Given the description of an element on the screen output the (x, y) to click on. 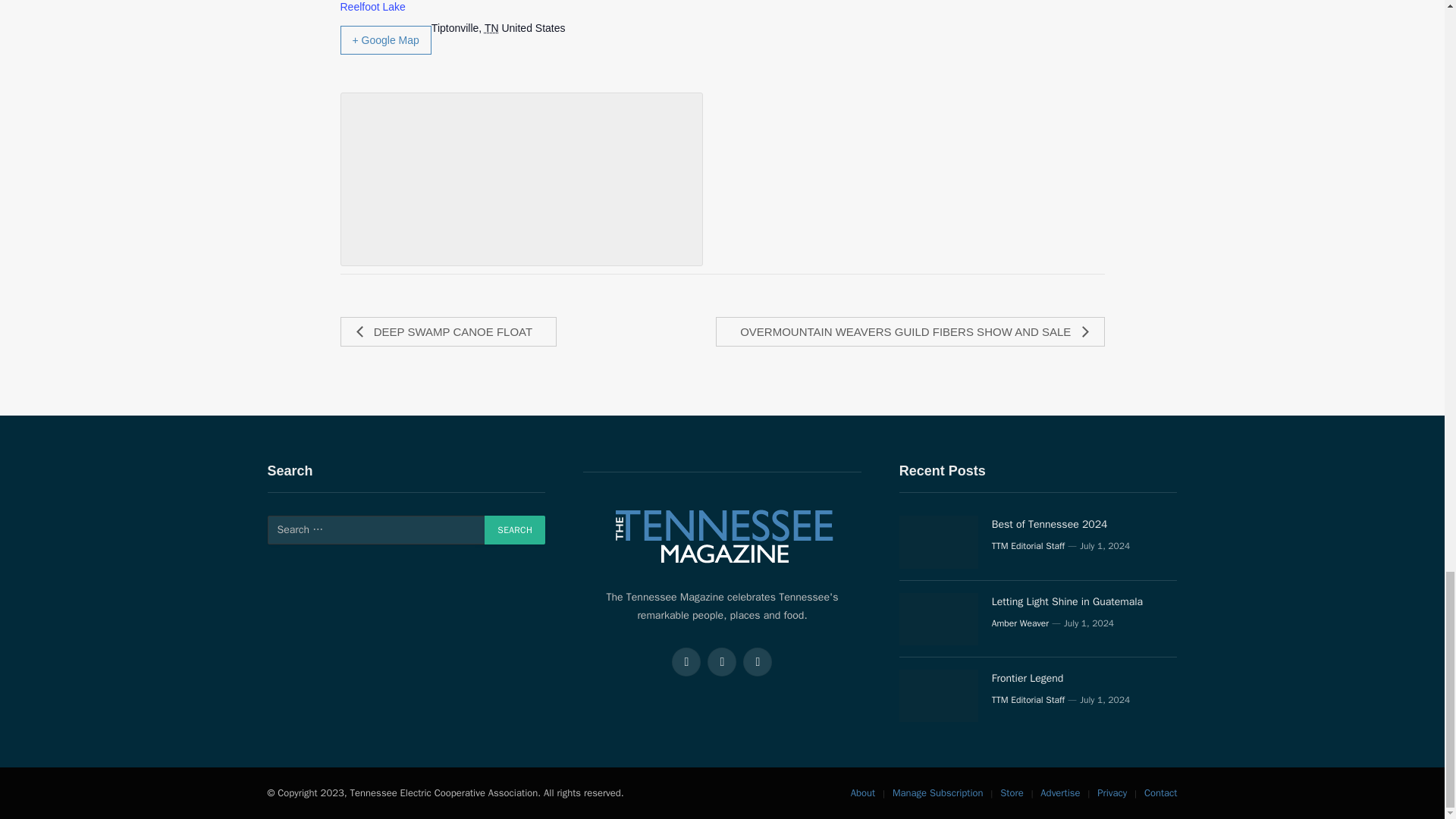
Search (514, 529)
Search (514, 529)
